Given the description of an element on the screen output the (x, y) to click on. 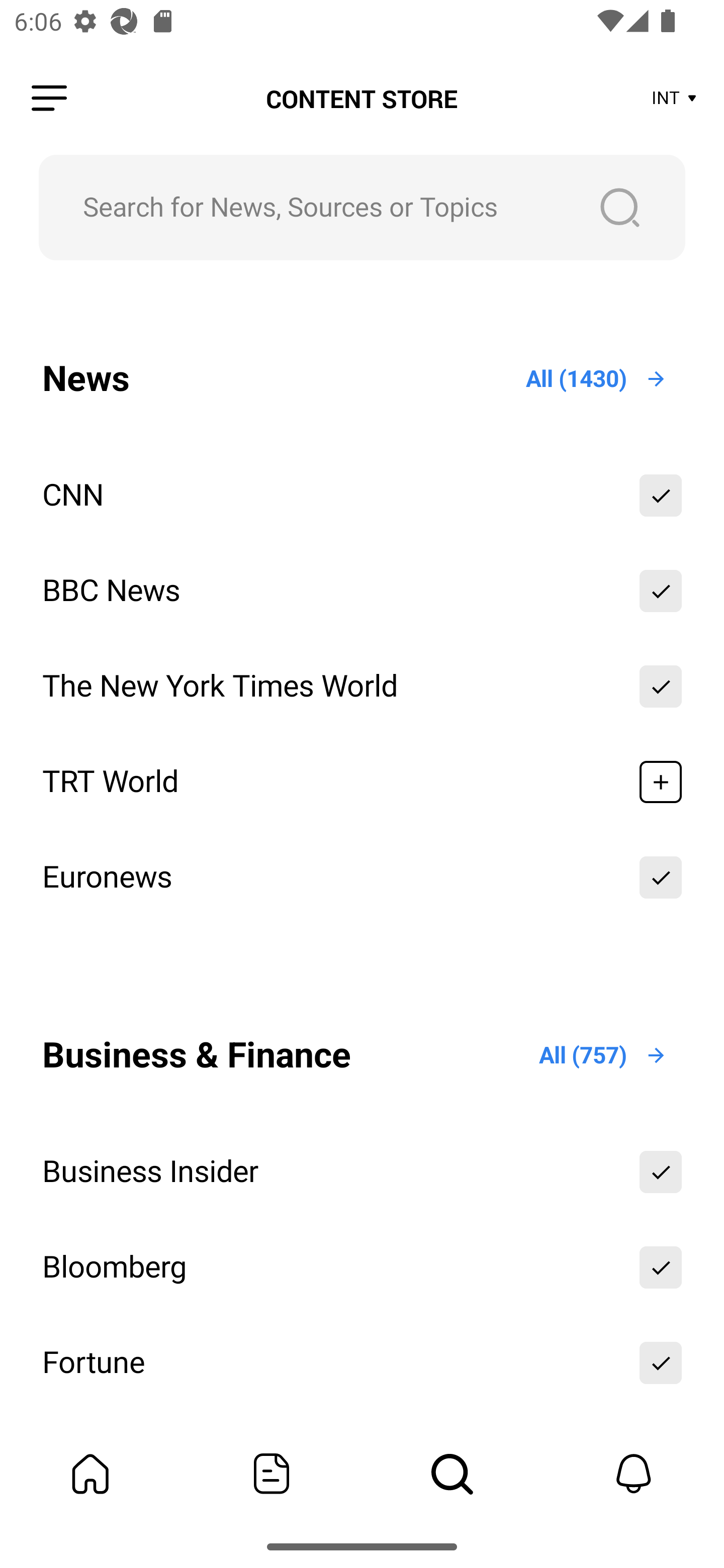
INT Store Area (674, 98)
Leading Icon (49, 98)
Search for News, Sources or Topics Search Button (361, 207)
All (1430) Open All Icon (596, 379)
CNN Add To My Bundle (361, 495)
Add To My Bundle (660, 495)
BBC News Add To My Bundle (361, 590)
Add To My Bundle (660, 590)
The New York Times World Add To My Bundle (361, 686)
Add To My Bundle (660, 686)
TRT World Add To My Bundle (361, 782)
Add To My Bundle (660, 782)
Euronews Add To My Bundle (361, 877)
Add To My Bundle (660, 877)
All (757) Open All Icon (603, 1054)
Business Insider Add To My Bundle (361, 1171)
Add To My Bundle (660, 1171)
Bloomberg Add To My Bundle (361, 1266)
Add To My Bundle (660, 1266)
Fortune Add To My Bundle (361, 1362)
Add To My Bundle (660, 1362)
My Bundle (90, 1473)
Featured (271, 1473)
Notifications (633, 1473)
